Given the description of an element on the screen output the (x, y) to click on. 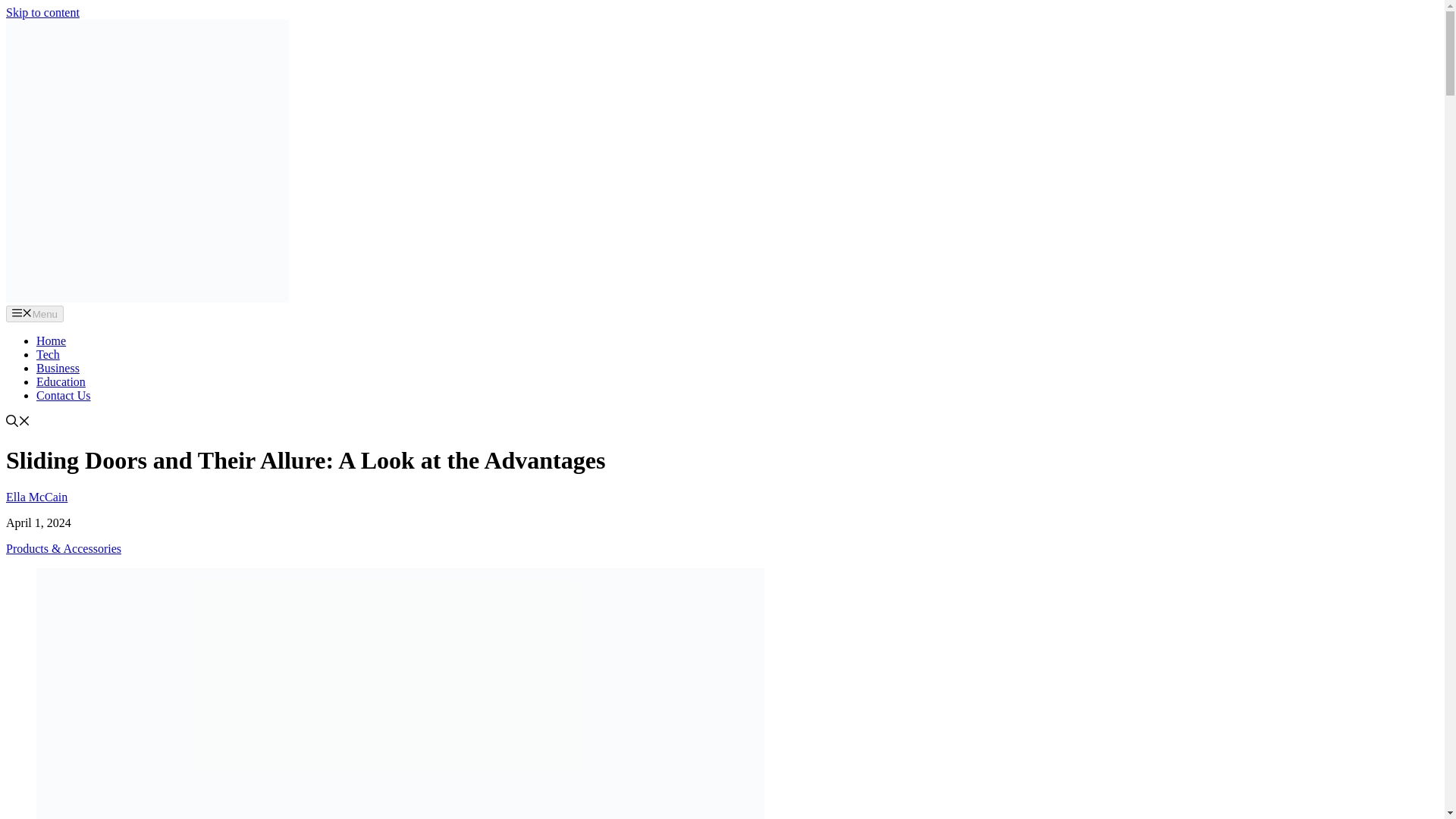
Skip to content (42, 11)
Tech (47, 354)
Skip to content (42, 11)
Menu (34, 313)
Education (60, 381)
Contact Us (63, 395)
Home (50, 340)
Business (58, 367)
Ella McCain (35, 496)
